Given the description of an element on the screen output the (x, y) to click on. 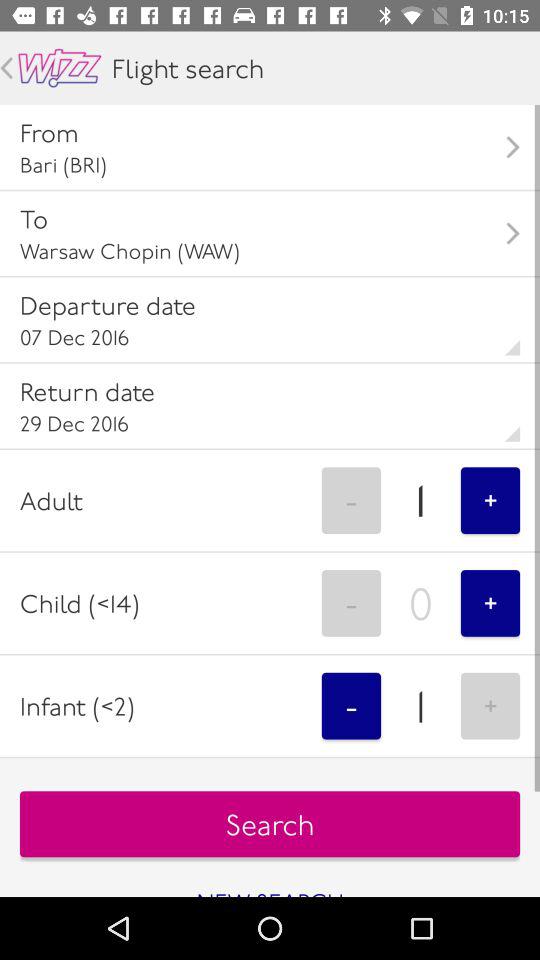
select - item (351, 705)
